Given the description of an element on the screen output the (x, y) to click on. 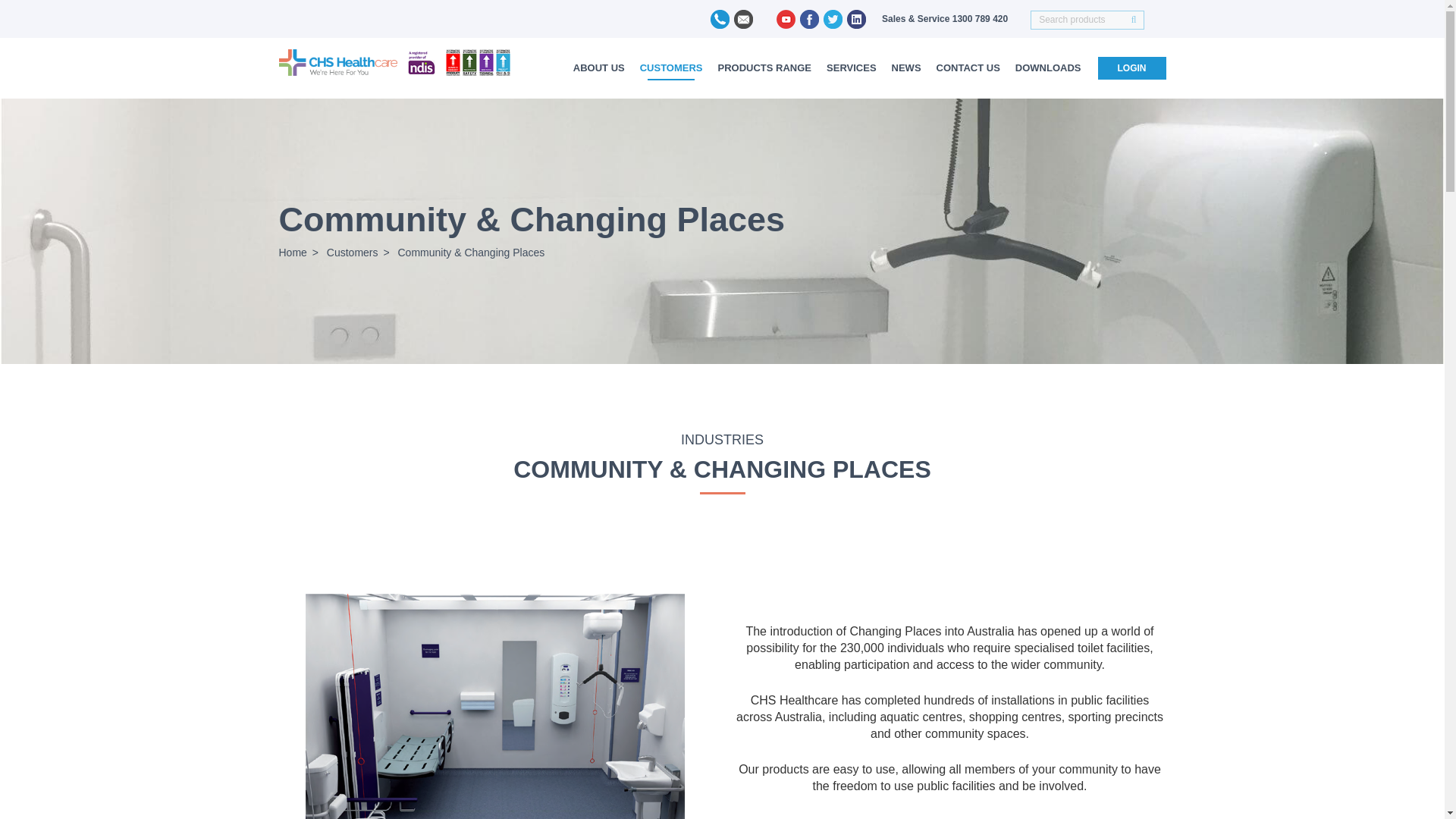
ABOUT US (598, 65)
Customers (670, 65)
CUSTOMERS (670, 65)
Products Range (764, 65)
About Us (598, 65)
SERVICES (850, 65)
PRODUCTS RANGE (764, 65)
